Given the description of an element on the screen output the (x, y) to click on. 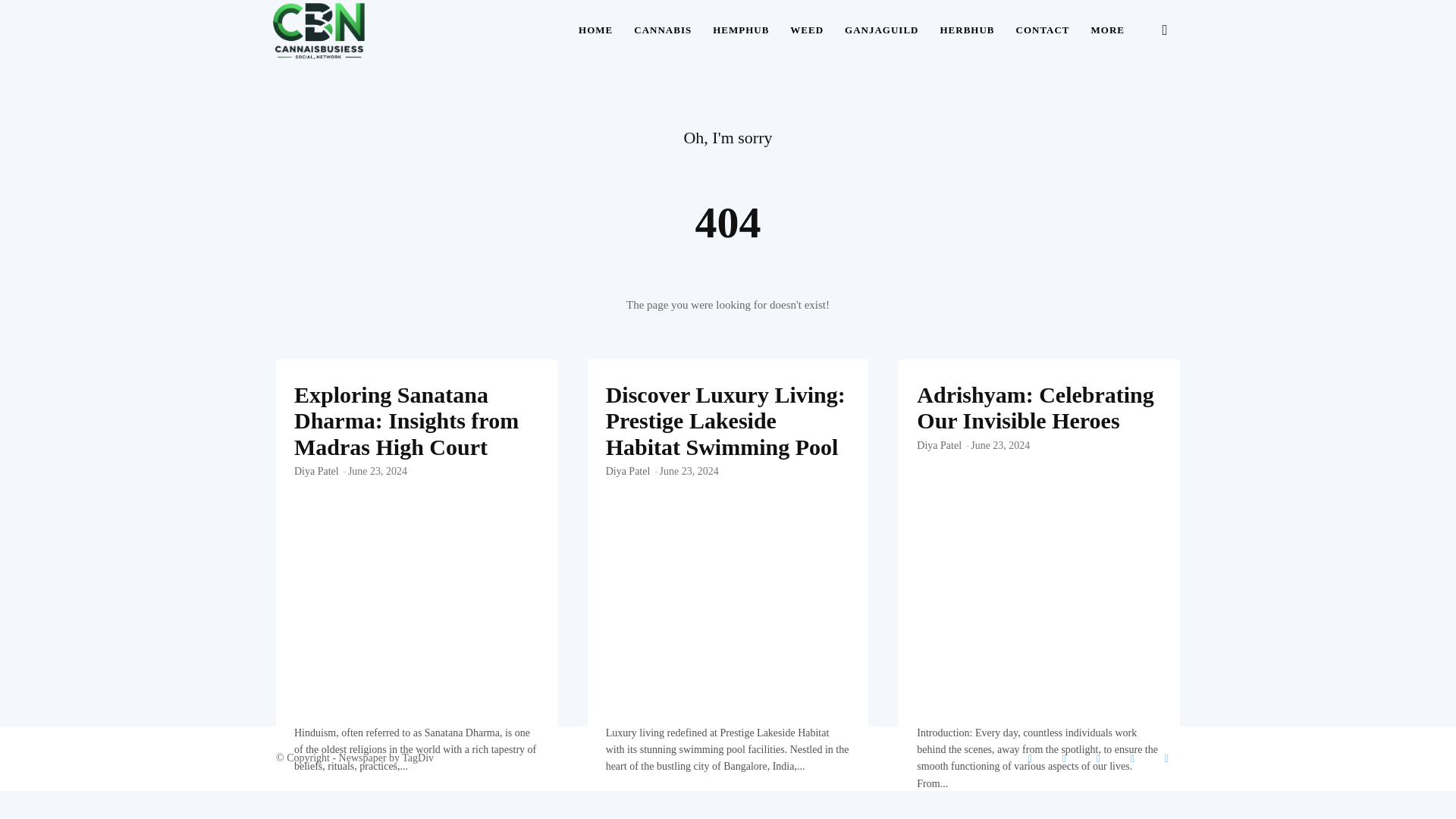
Exploring Sanatana Dharma: Insights from Madras High Court (416, 443)
CANNABIS (662, 30)
Diya Patel (316, 471)
Instagram (1098, 758)
Exploring Sanatana Dharma: Insights from Madras High Court (406, 420)
Search (1140, 102)
GANJAGUILD (881, 30)
Flickr (1064, 758)
Adrishyam: Celebrating Our Invisible Heroes (1035, 408)
CONTACT (1043, 30)
Twitter (1132, 758)
HOME (595, 30)
Facebook (1029, 758)
Exploring Sanatana Dharma: Insights from Madras High Court (406, 420)
